Given the description of an element on the screen output the (x, y) to click on. 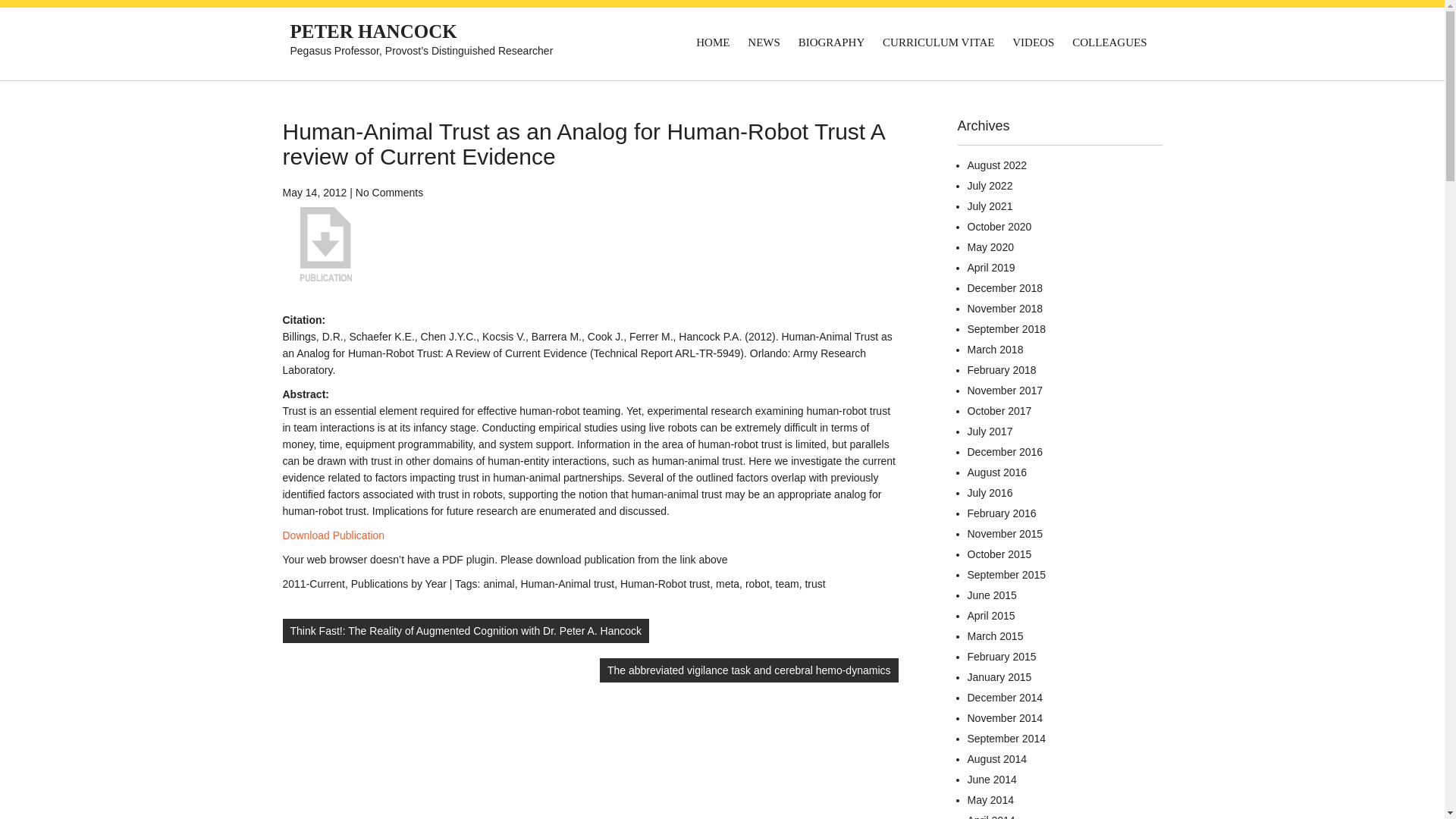
Download Publication (333, 535)
BIOGRAPHY (831, 42)
robot (757, 583)
HOME (712, 42)
meta (727, 583)
No Comments (389, 192)
PETER HANCOCK (373, 31)
Human-Animal trust (566, 583)
CURRICULUM VITAE (938, 42)
NEWS (763, 42)
